Given the description of an element on the screen output the (x, y) to click on. 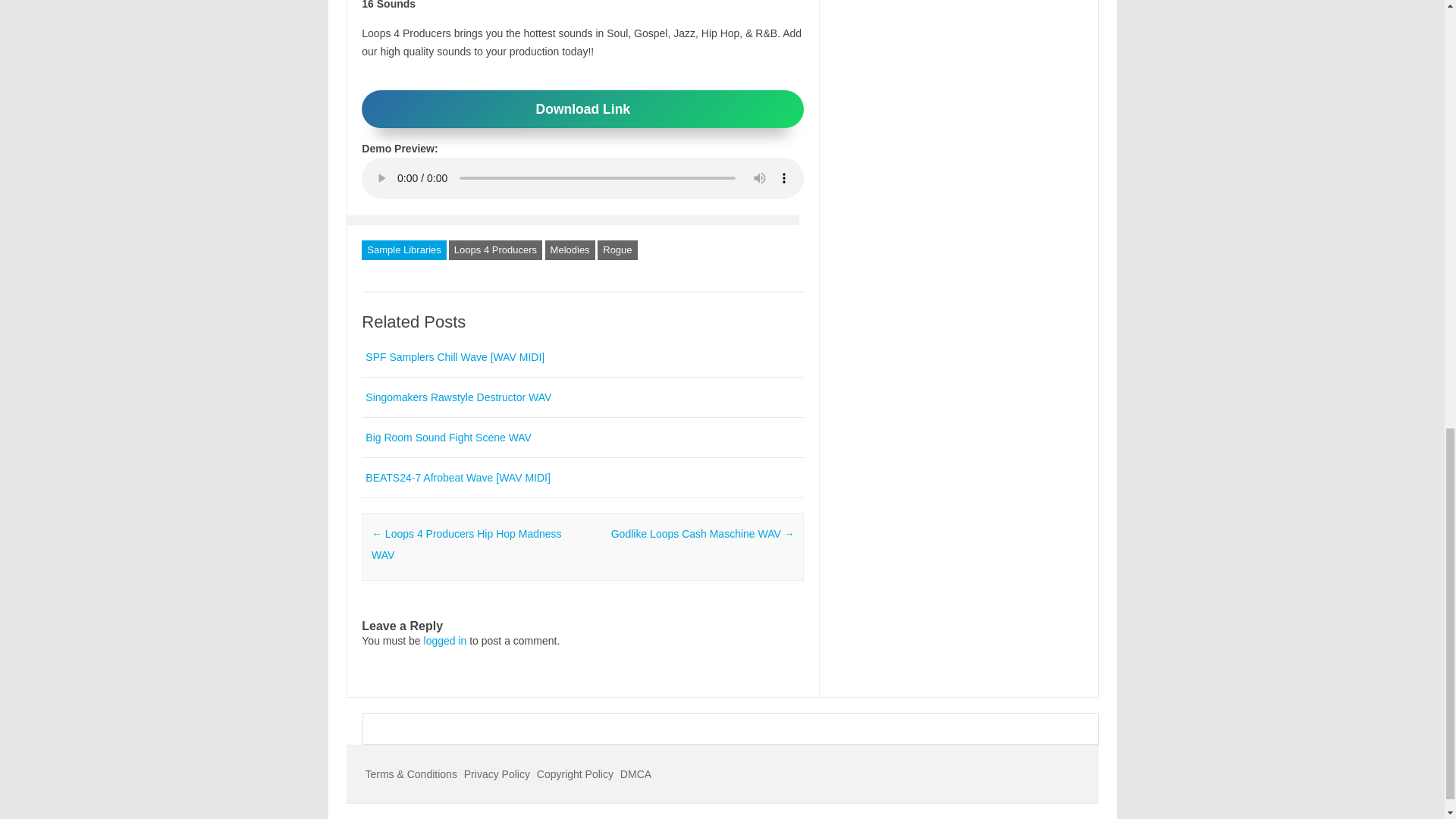
logged in (445, 640)
Privacy Policy (496, 774)
Melodies (569, 250)
Big Room Sound Fight Scene WAV (448, 437)
Big Room Sound Fight Scene WAV (448, 437)
Loops 4 Producers (494, 250)
Rogue (616, 250)
Singomakers Rawstyle Destructor WAV (458, 397)
Copyright Policy (574, 774)
Singomakers Rawstyle Destructor WAV (458, 397)
